Given the description of an element on the screen output the (x, y) to click on. 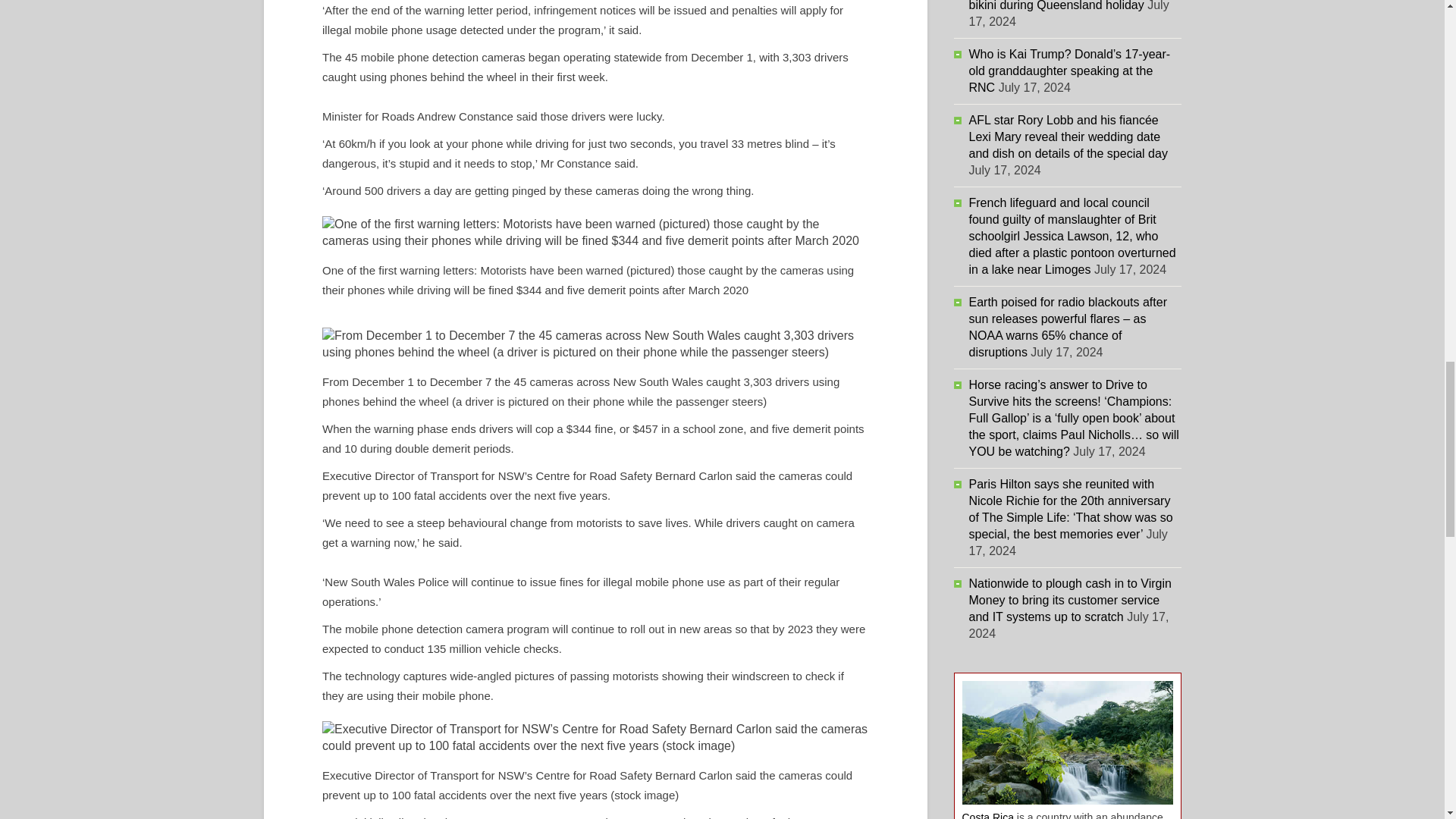
Costa Rica (986, 815)
